Given the description of an element on the screen output the (x, y) to click on. 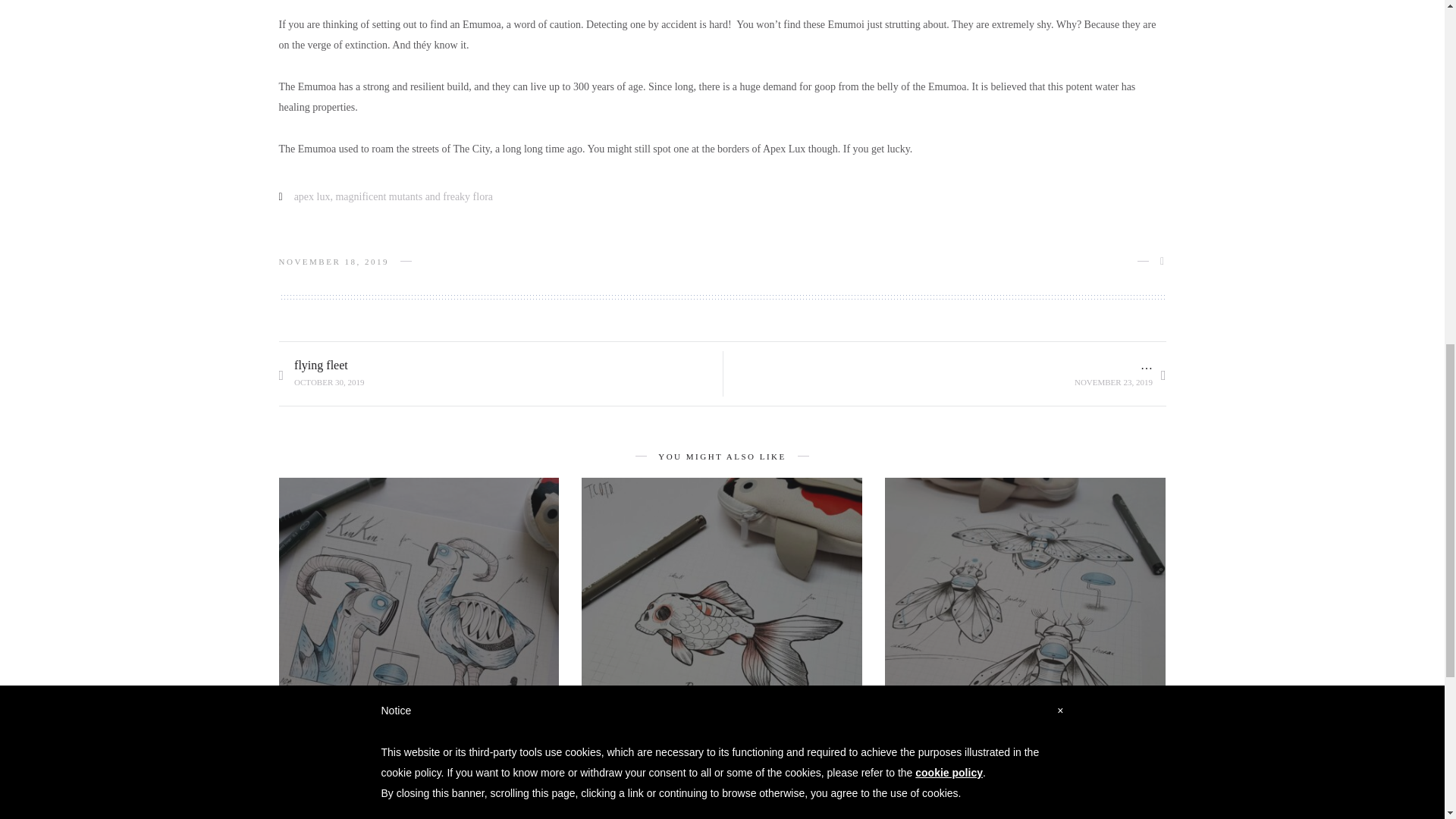
flying fleet (1025, 711)
Piscis Cranium Faciei (721, 711)
magnificent mutants and freaky flora (413, 196)
apex lux (312, 196)
Piscis Cranium Faciei (721, 711)
The Kin Kin (322, 375)
The Kin Kin (418, 711)
flying fleet (418, 711)
